Given the description of an element on the screen output the (x, y) to click on. 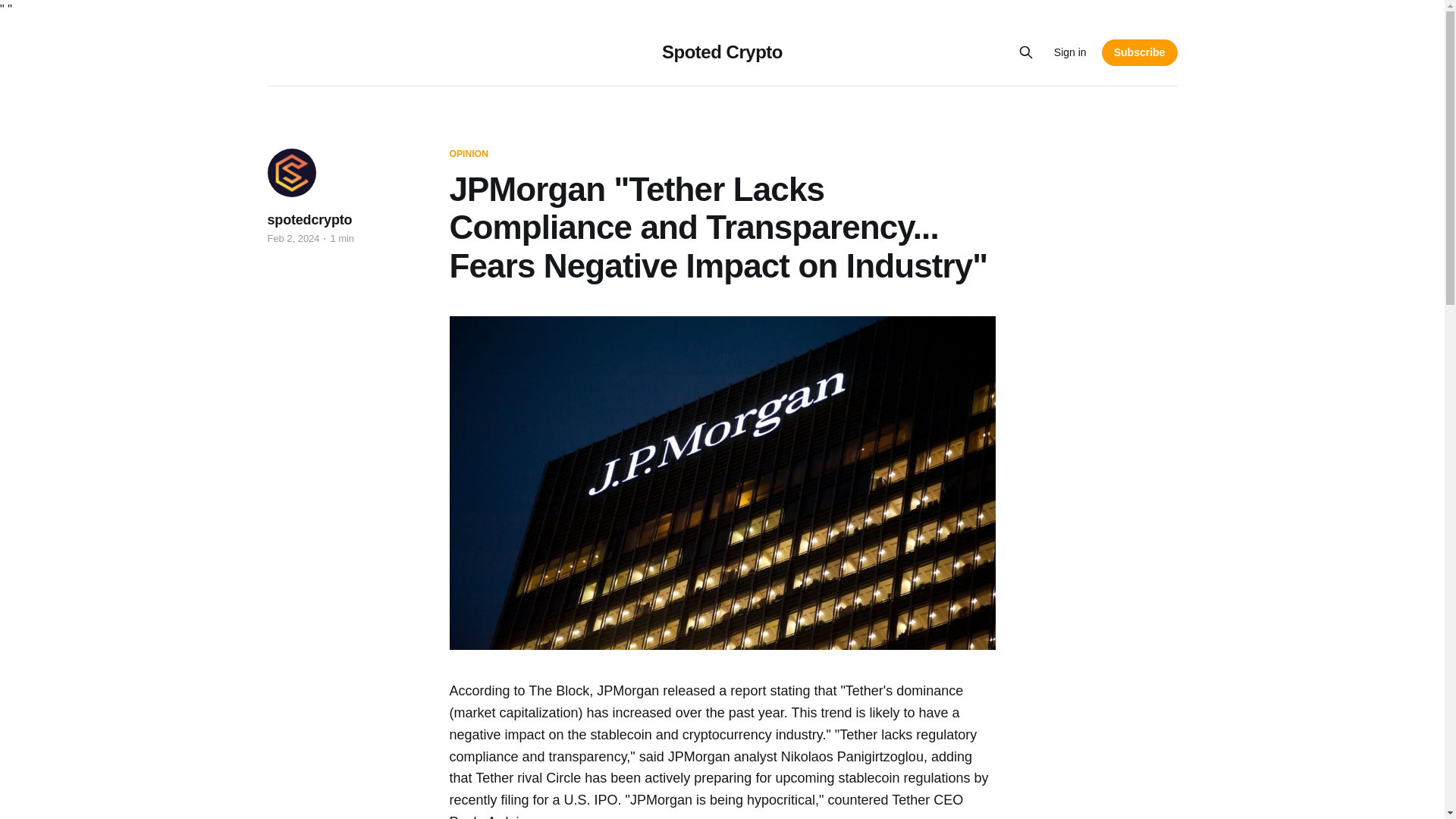
Subscribe (1139, 52)
OPINION (467, 154)
Sign in (1070, 52)
spotedcrypto (309, 219)
Spoted Crypto (722, 52)
